Given the description of an element on the screen output the (x, y) to click on. 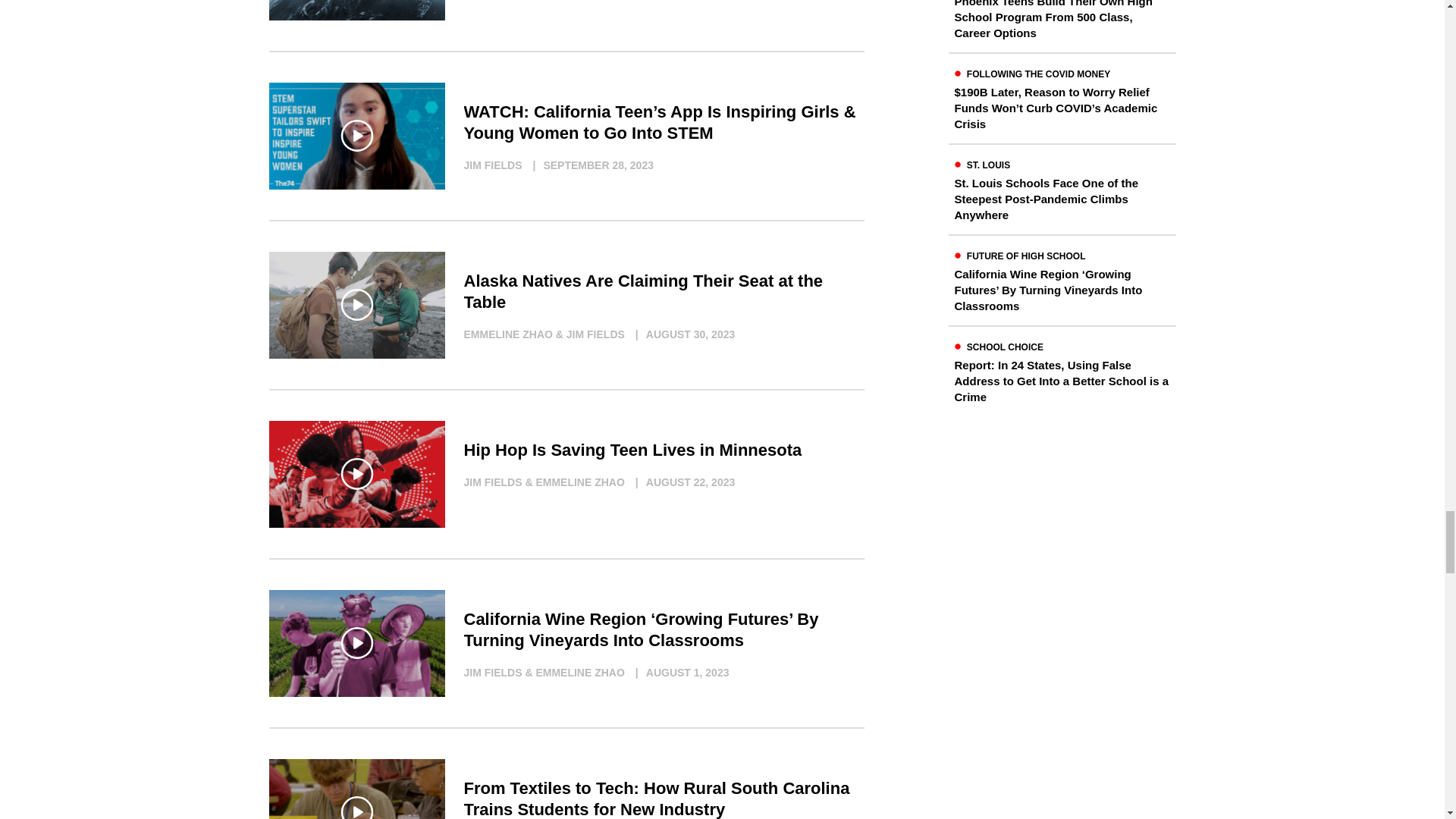
September 28, 2023 (589, 165)
August 22, 2023 (681, 482)
August 30, 2023 (681, 334)
August 1, 2023 (678, 672)
